Given the description of an element on the screen output the (x, y) to click on. 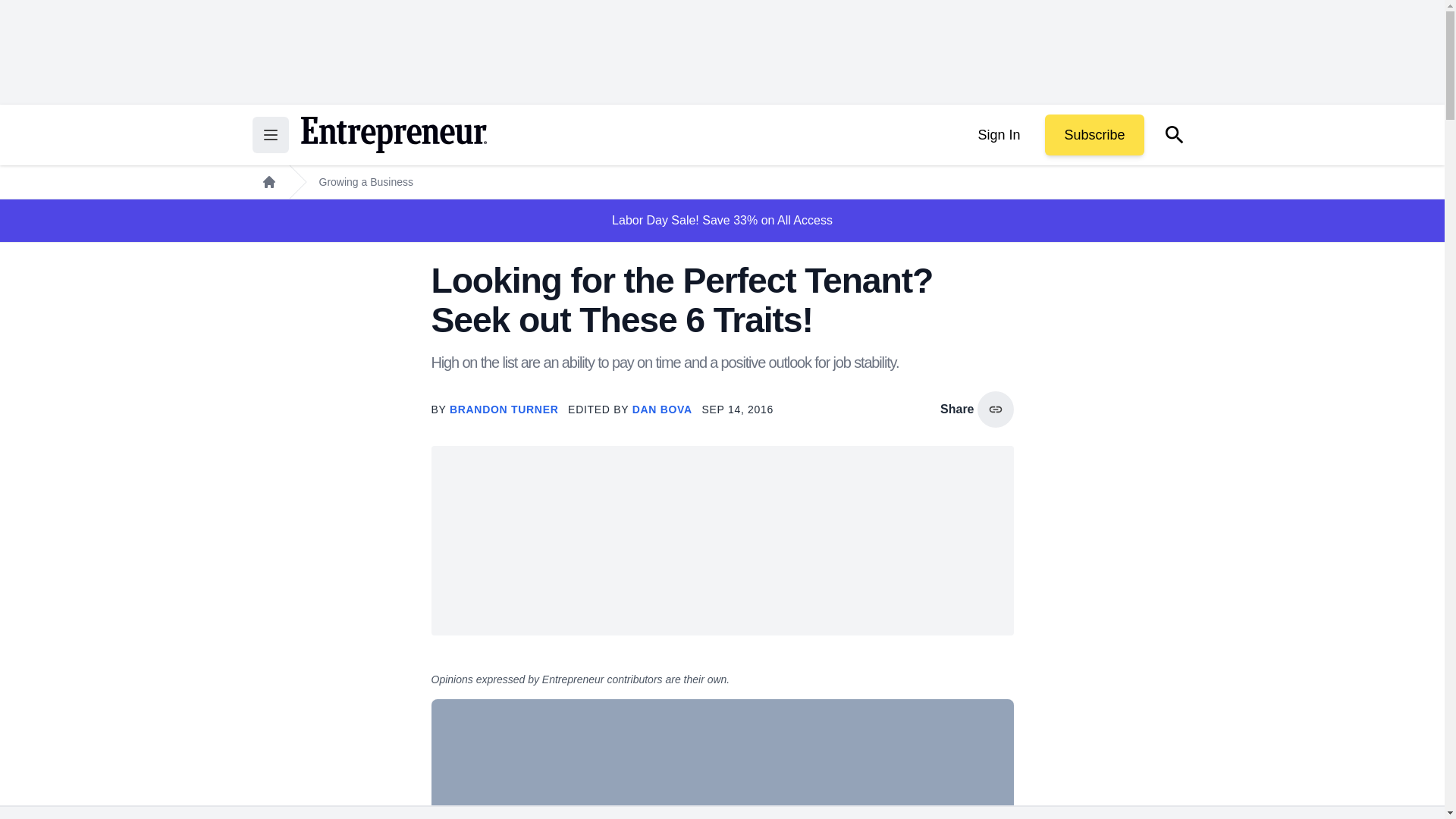
copy (994, 409)
Sign In (998, 134)
Return to the home page (392, 135)
Subscribe (1093, 134)
